Given the description of an element on the screen output the (x, y) to click on. 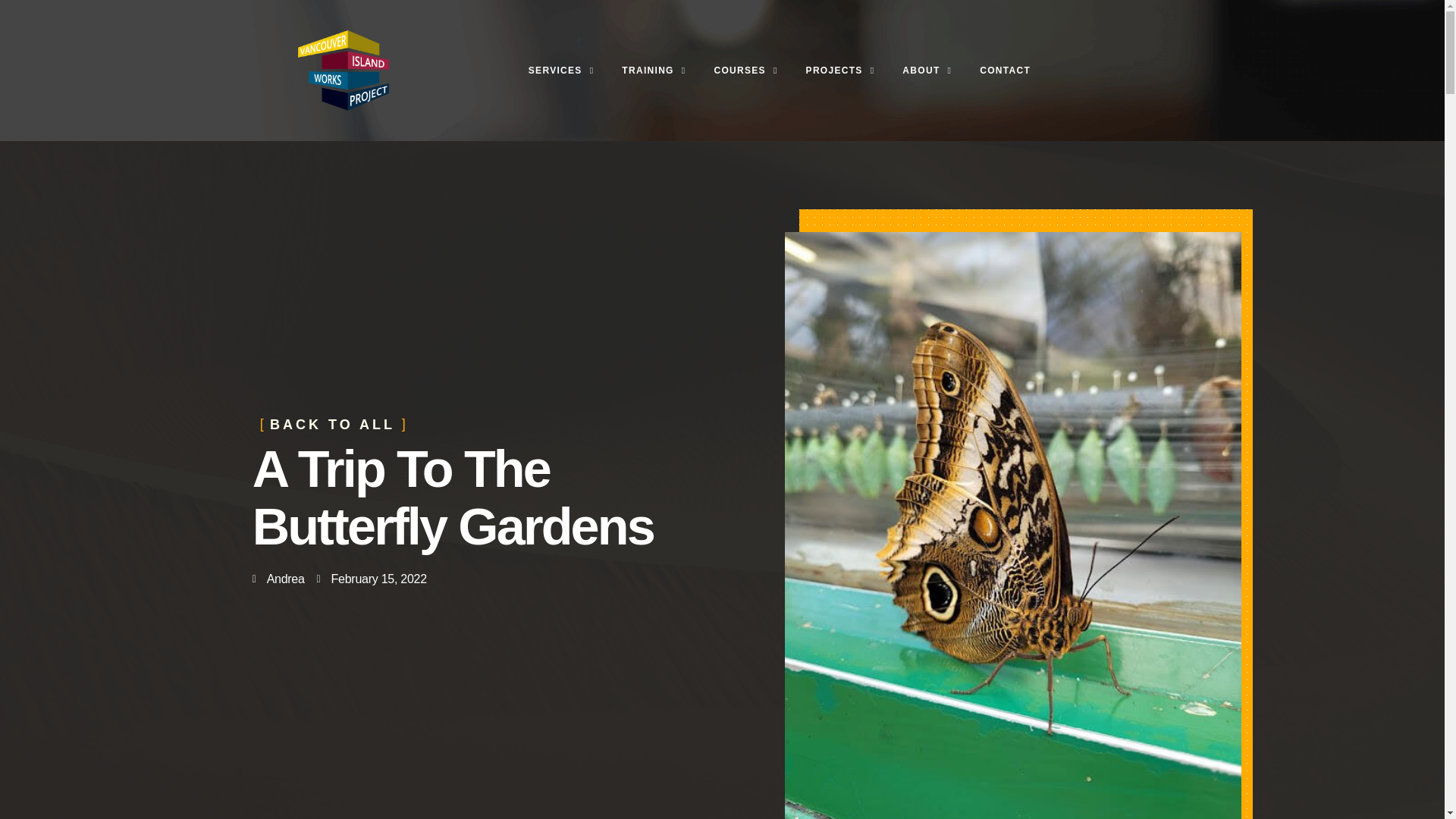
TRAINING (653, 70)
SERVICES (561, 70)
